Given the description of an element on the screen output the (x, y) to click on. 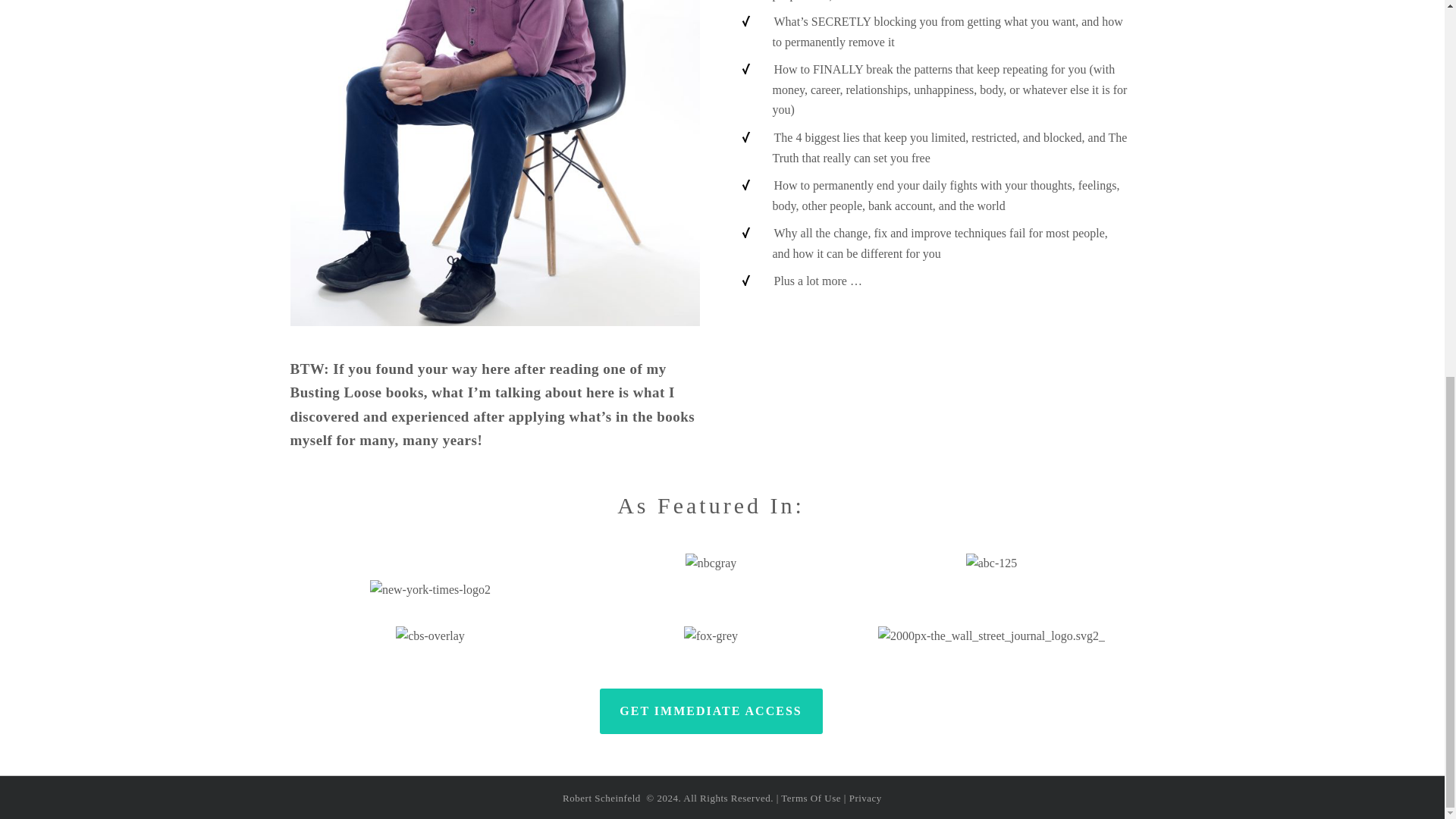
GET IMMEDIATE ACCESS (710, 711)
new-york-times-logo2 (429, 589)
robert-china2-683x1024-cropped (493, 162)
cbs-overlay (430, 636)
nbcgray (710, 563)
Privacy (865, 797)
fox-grey (711, 636)
abc-125 (991, 563)
Terms Of Use (810, 797)
